Given the description of an element on the screen output the (x, y) to click on. 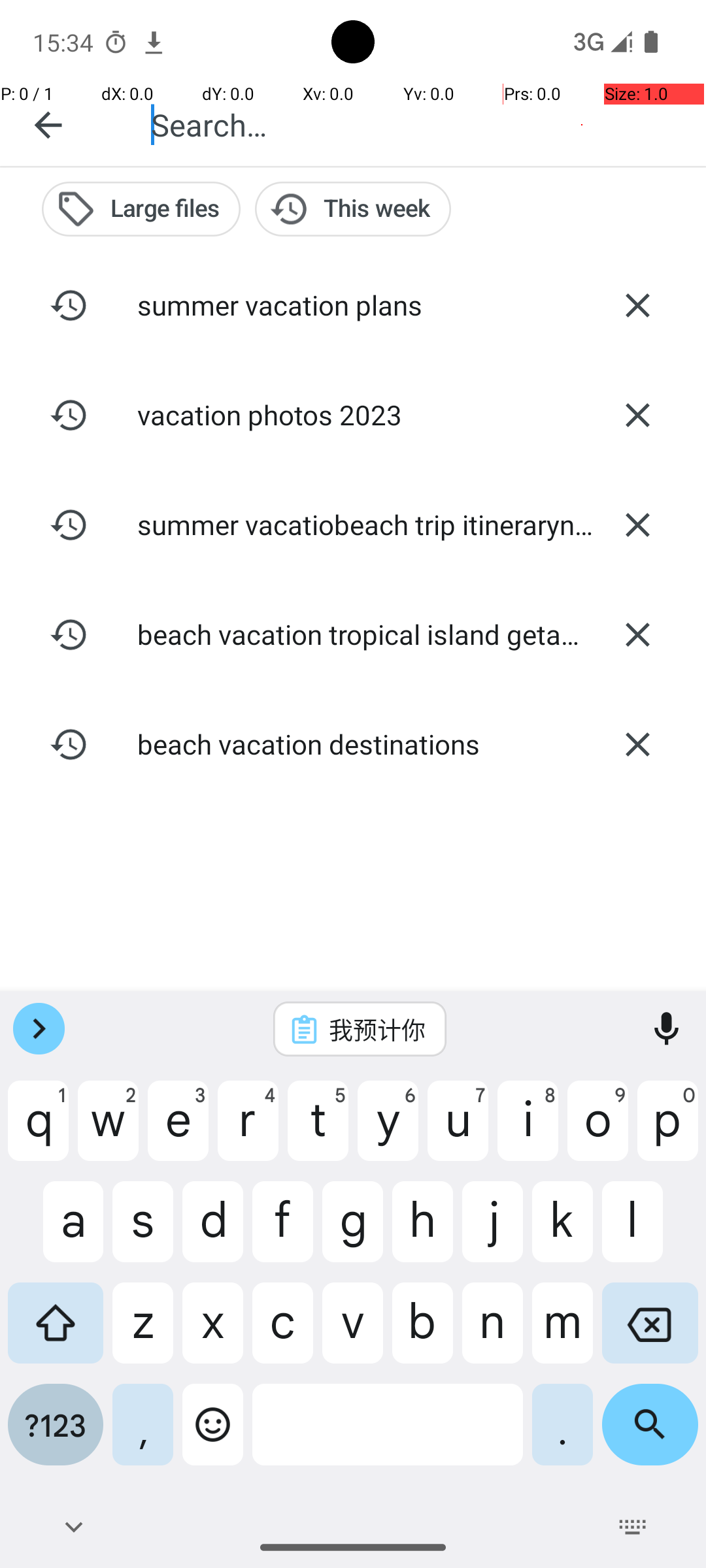
summer vacation plans Element type: android.widget.TextView (352, 304)
Delete search history summer vacation plans Element type: android.widget.ImageView (637, 304)
vacation photos 2023 Element type: android.widget.TextView (352, 414)
Delete search history vacation photos 2023 Element type: android.widget.ImageView (637, 414)
summer vacatiobeach trip itineraryn plans Element type: android.widget.TextView (352, 523)
Delete search history summer vacatiobeach trip itineraryn plans Element type: android.widget.ImageView (637, 524)
beach vacation tropical island getawaysdestinations Element type: android.widget.TextView (352, 633)
Delete search history beach vacation tropical island getawaysdestinations Element type: android.widget.ImageView (637, 634)
beach vacation destinations Element type: android.widget.TextView (352, 743)
Delete search history beach vacation destinations Element type: android.widget.ImageView (637, 743)
我预计你 Element type: android.widget.TextView (376, 1028)
Chrome notification: www.espn.com Element type: android.widget.ImageView (153, 41)
